Given the description of an element on the screen output the (x, y) to click on. 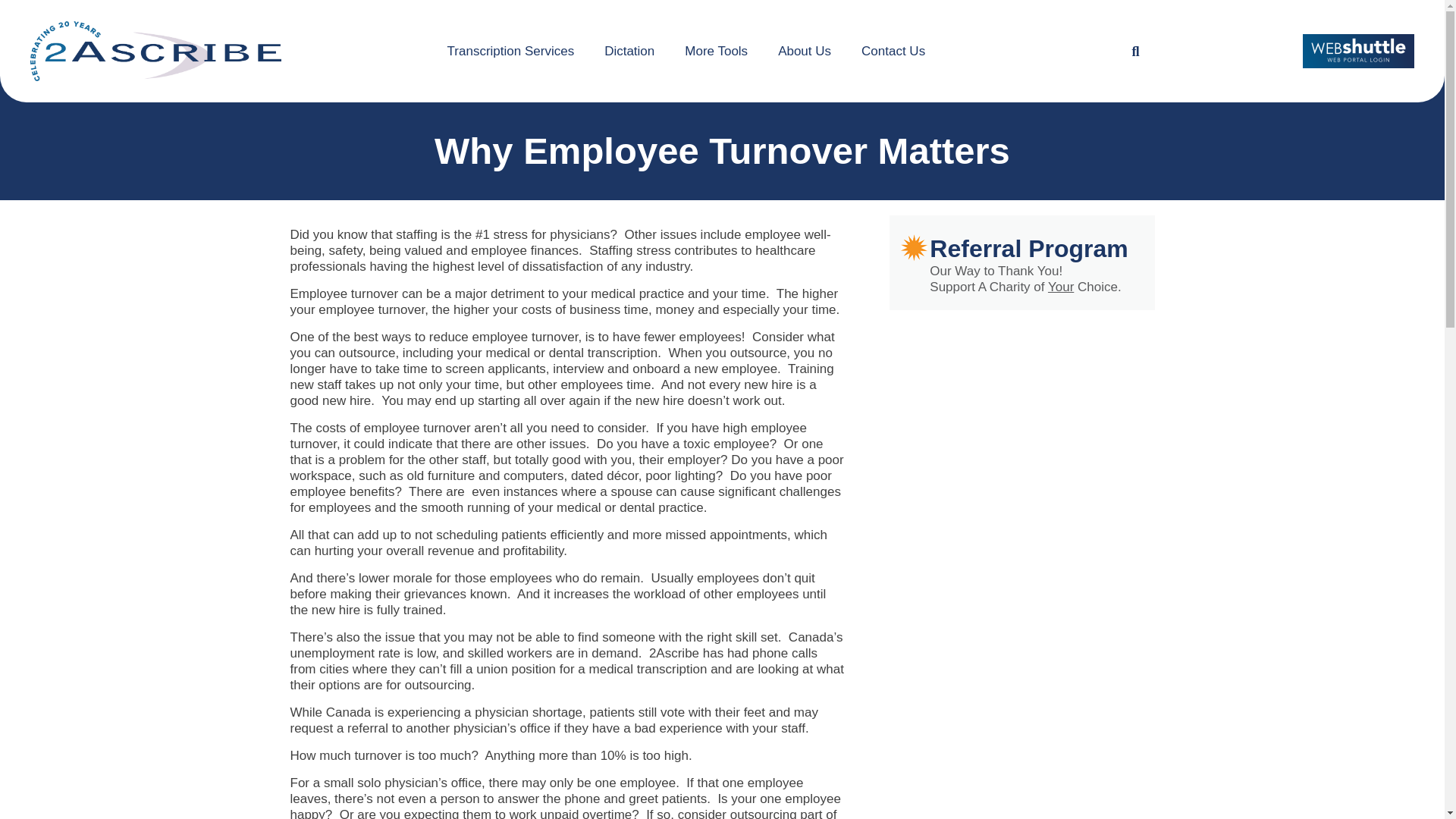
Transcription Services (510, 50)
WEBshuttle (1358, 50)
Dictation (629, 50)
More Tools (715, 50)
About Us (803, 50)
Contact Us (892, 50)
